Given the description of an element on the screen output the (x, y) to click on. 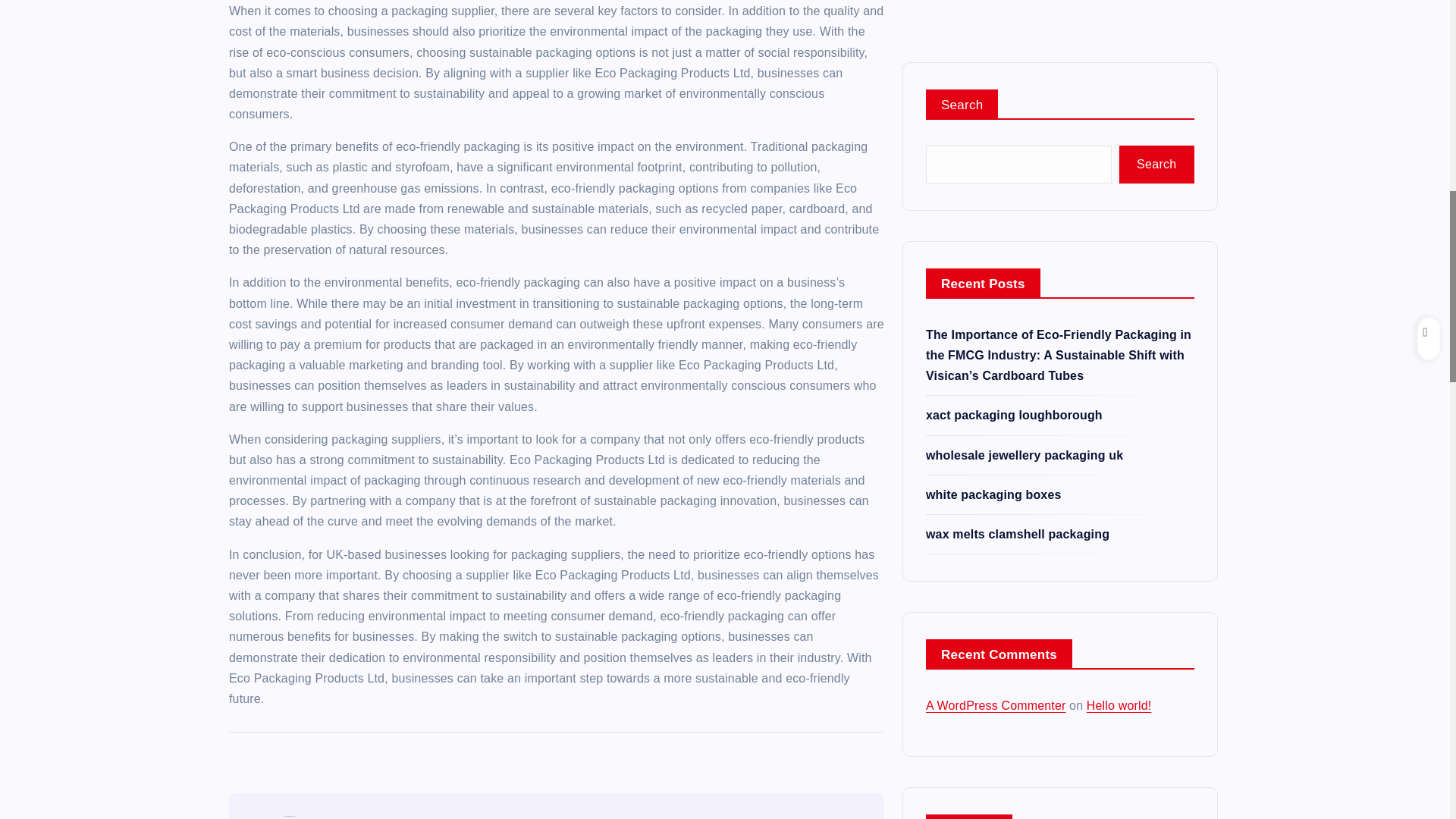
white packaging boxes (993, 109)
wax melts clamshell packaging (1017, 148)
admin (373, 817)
xact packaging loughborough (1014, 29)
wholesale jewellery packaging uk (1024, 69)
